Given the description of an element on the screen output the (x, y) to click on. 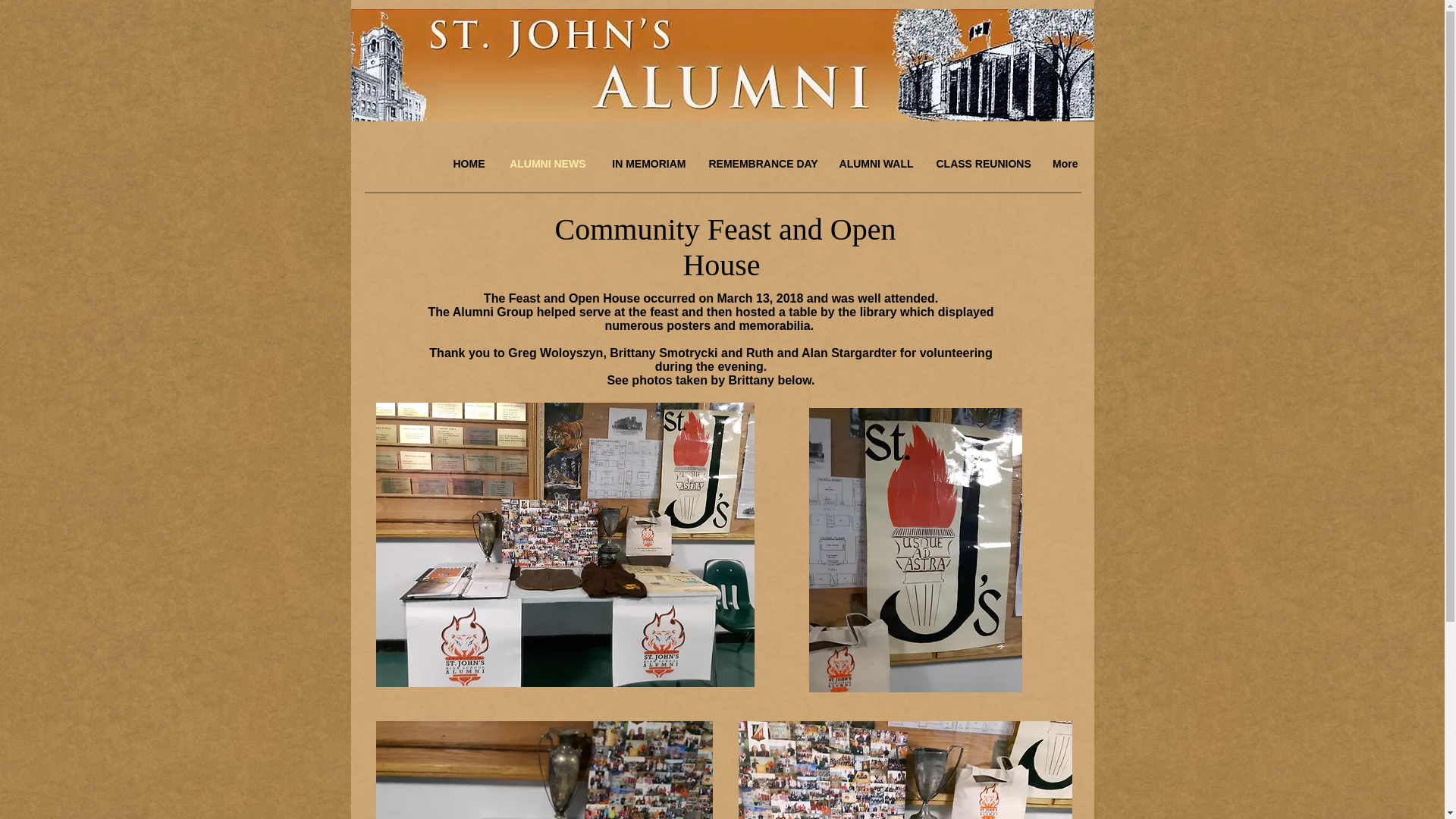
ALUMNI WALL (874, 163)
CLASS REUNIONS (981, 163)
ALUMNI NEWS (546, 163)
IN MEMORIAM (646, 163)
HOME (468, 163)
REMEMBRANCE DAY (761, 163)
